Given the description of an element on the screen output the (x, y) to click on. 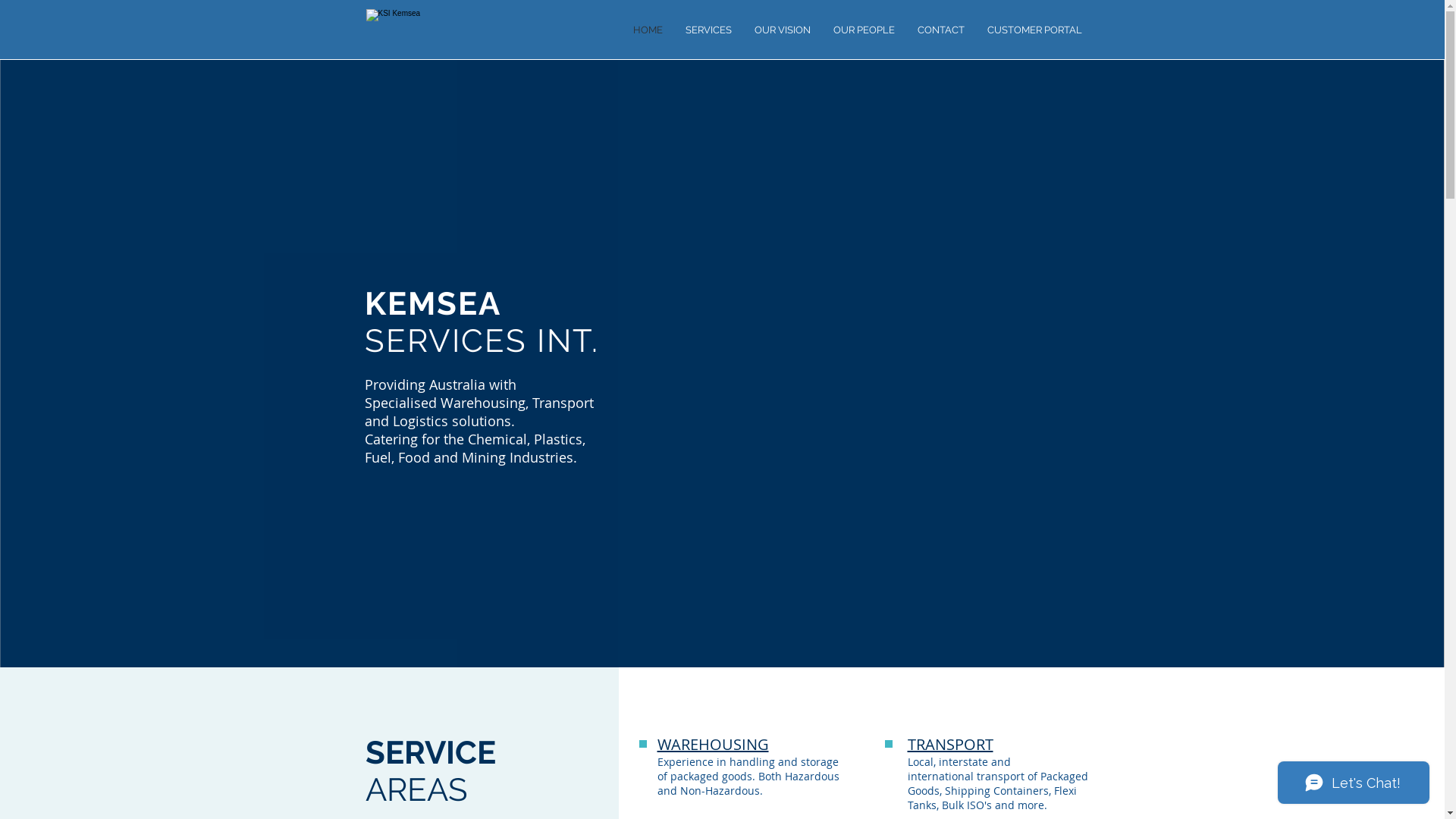
HOME Element type: text (647, 29)
CUSTOMER PORTAL Element type: text (1033, 29)
WAREHOUSING Element type: text (712, 744)
OUR PEOPLE Element type: text (864, 29)
CONTACT Element type: text (940, 29)
OUR VISION Element type: text (782, 29)
SERVICES Element type: text (707, 29)
TRANSPORT Element type: text (949, 744)
